Given the description of an element on the screen output the (x, y) to click on. 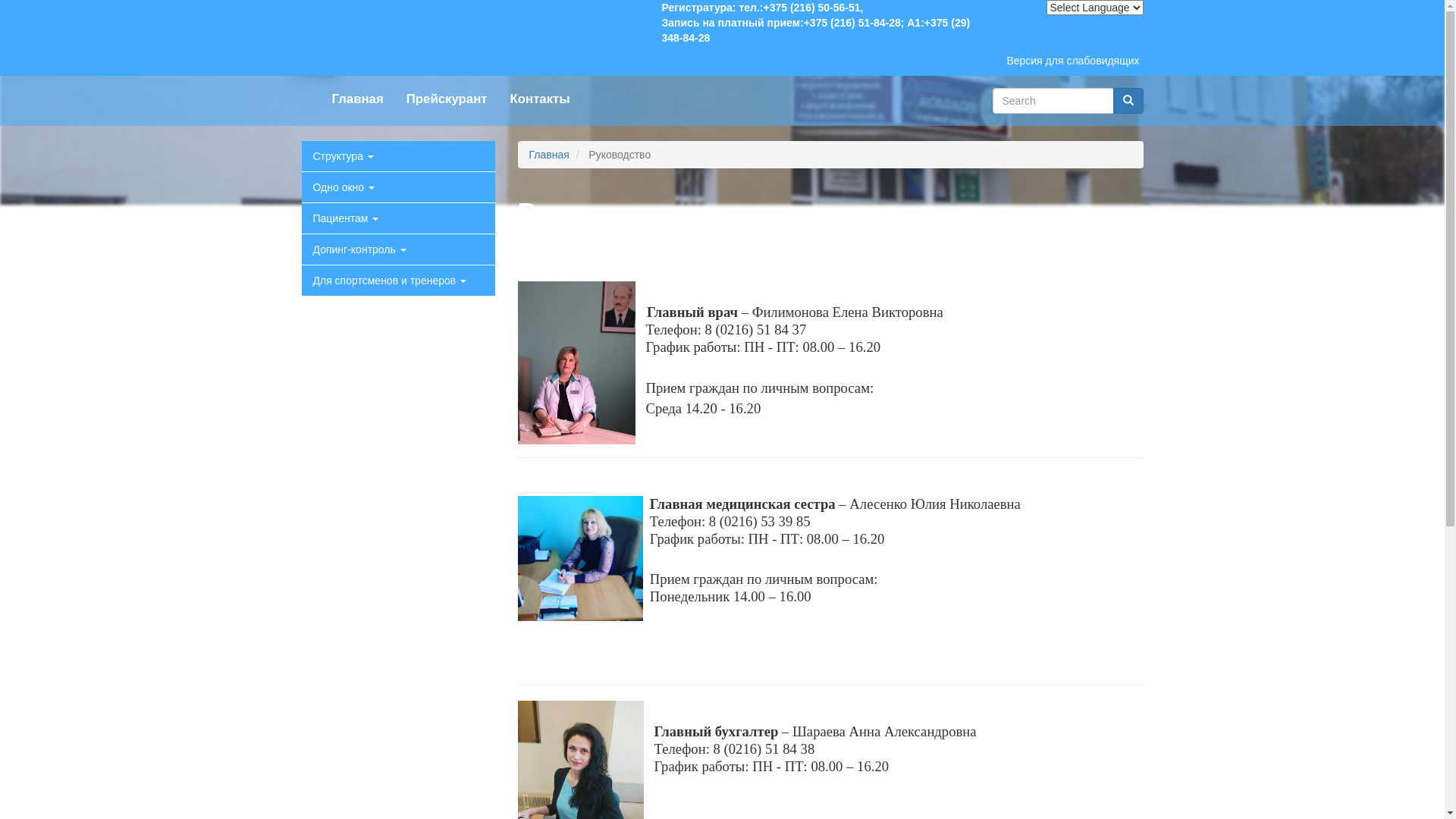
Search Element type: text (1128, 100)
